Given the description of an element on the screen output the (x, y) to click on. 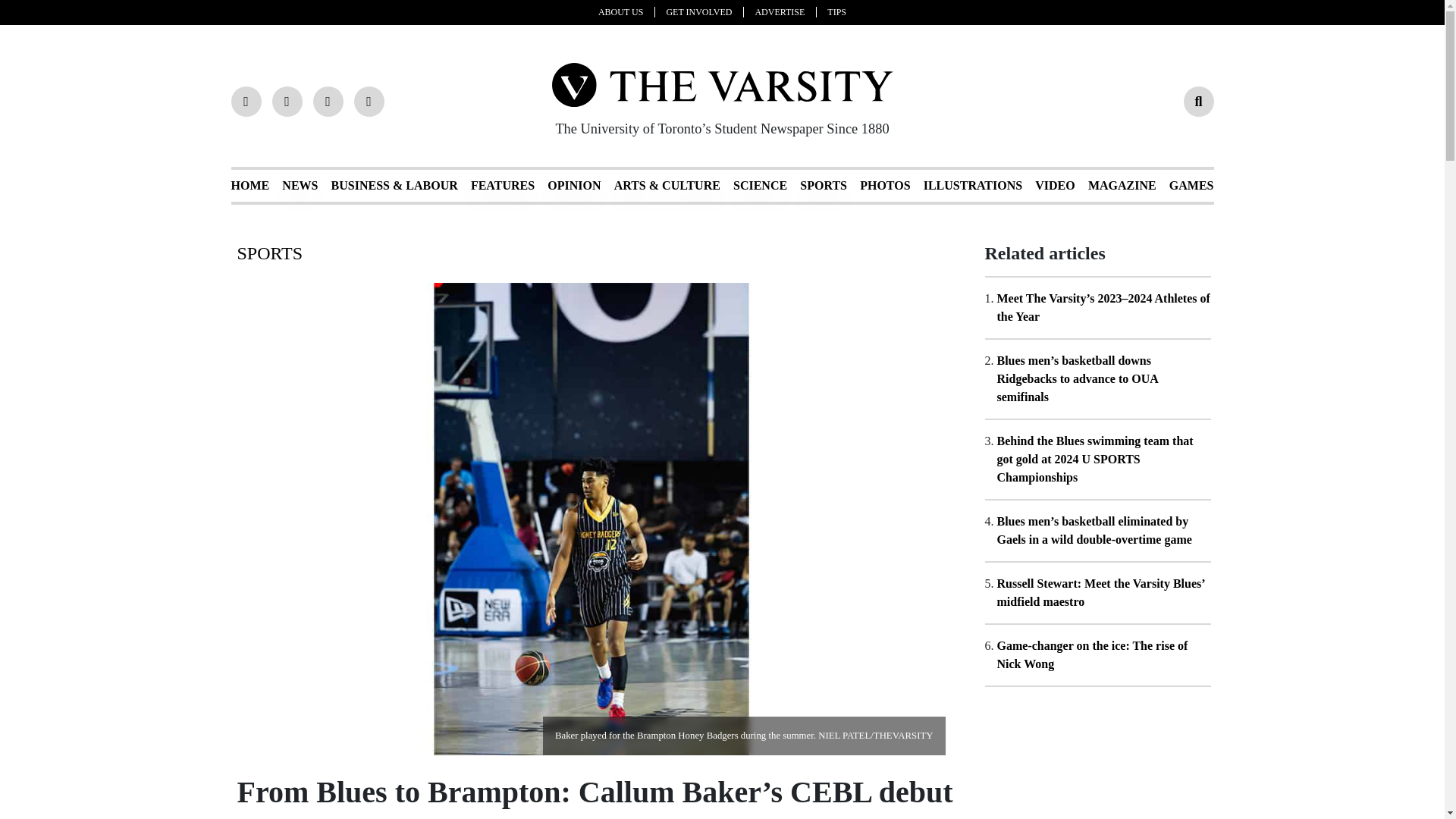
TIPS (836, 11)
ABOUT US (626, 11)
GET INVOLVED (704, 11)
ADVERTISE (785, 11)
